Given the description of an element on the screen output the (x, y) to click on. 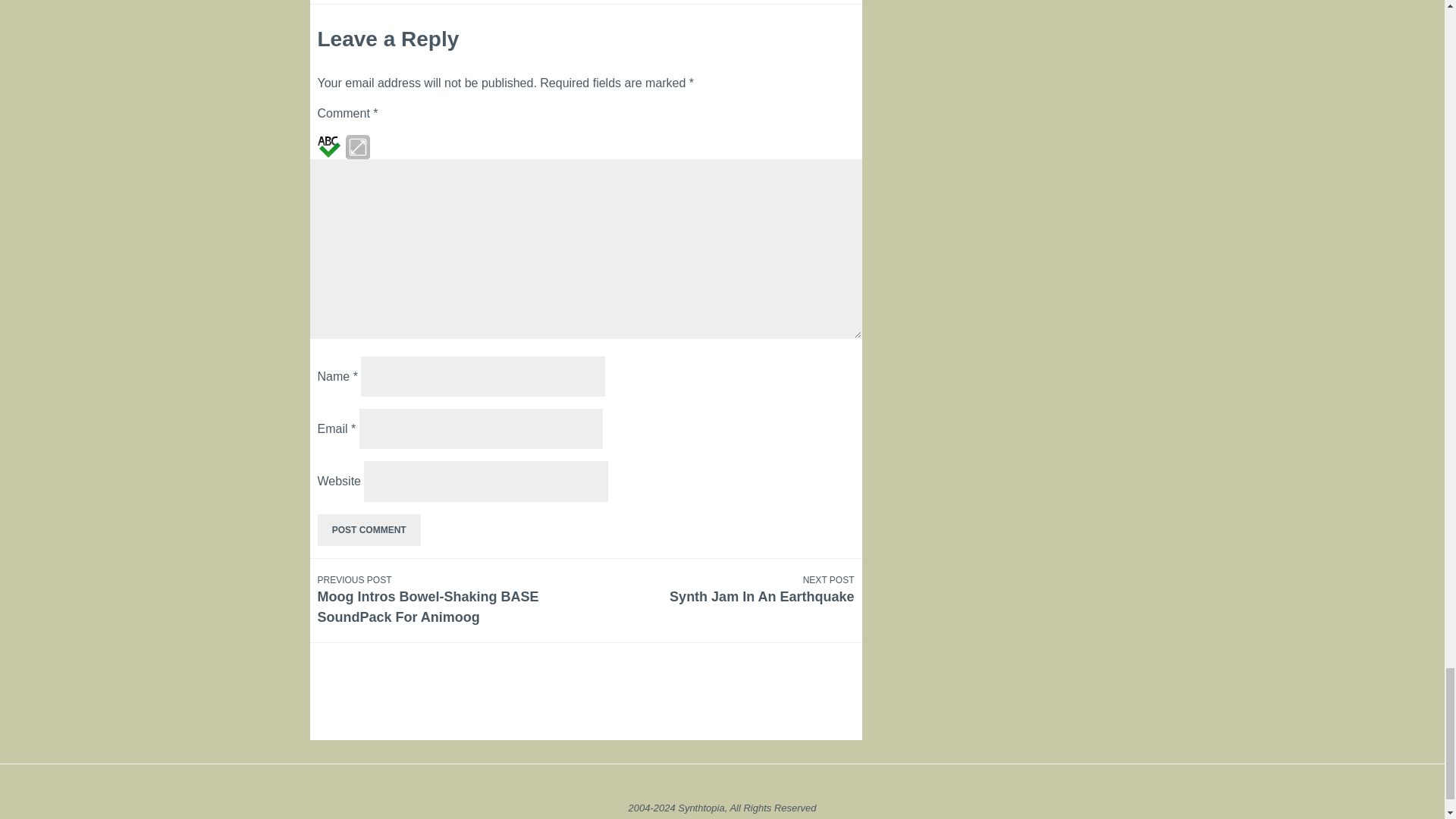
Post Comment (368, 530)
